Given the description of an element on the screen output the (x, y) to click on. 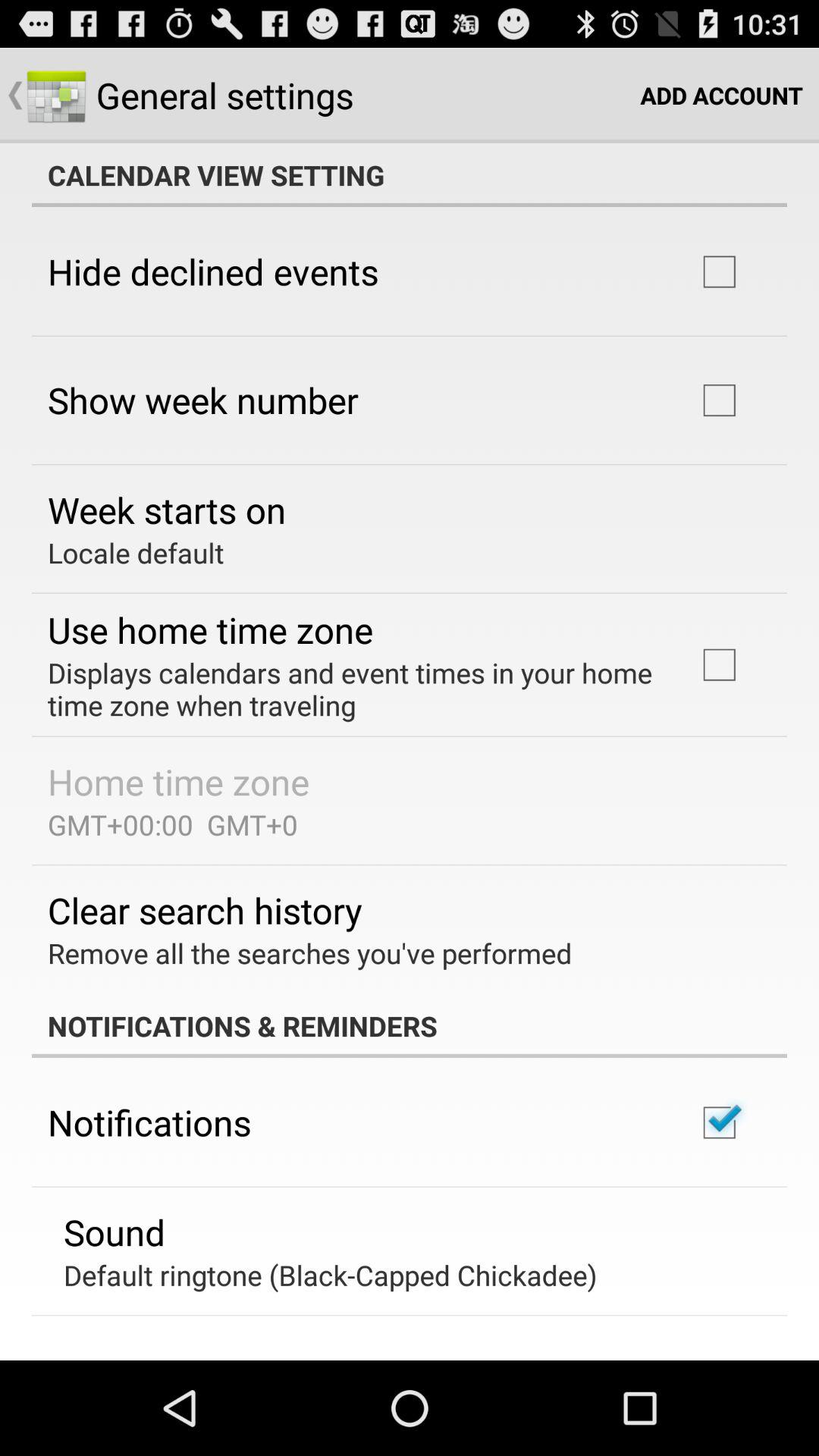
press item above the notifications & reminders item (309, 952)
